Given the description of an element on the screen output the (x, y) to click on. 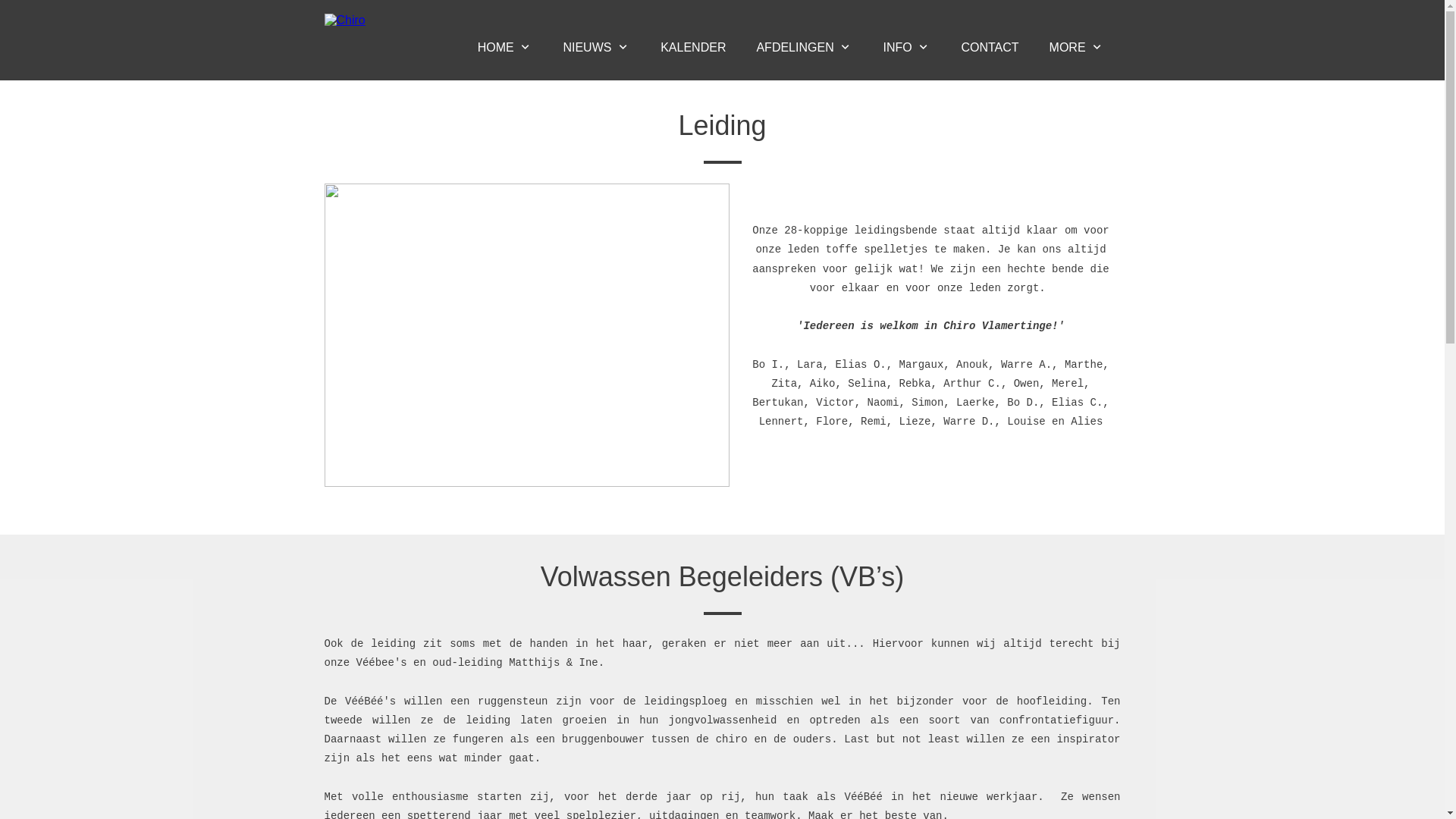
KALENDER Element type: text (692, 47)
CONTACT Element type: text (989, 47)
HOME Element type: text (505, 47)
MORE Element type: text (1077, 47)
AFDELINGEN Element type: text (803, 47)
INFO Element type: text (906, 47)
NIEUWS Element type: text (596, 47)
